Given the description of an element on the screen output the (x, y) to click on. 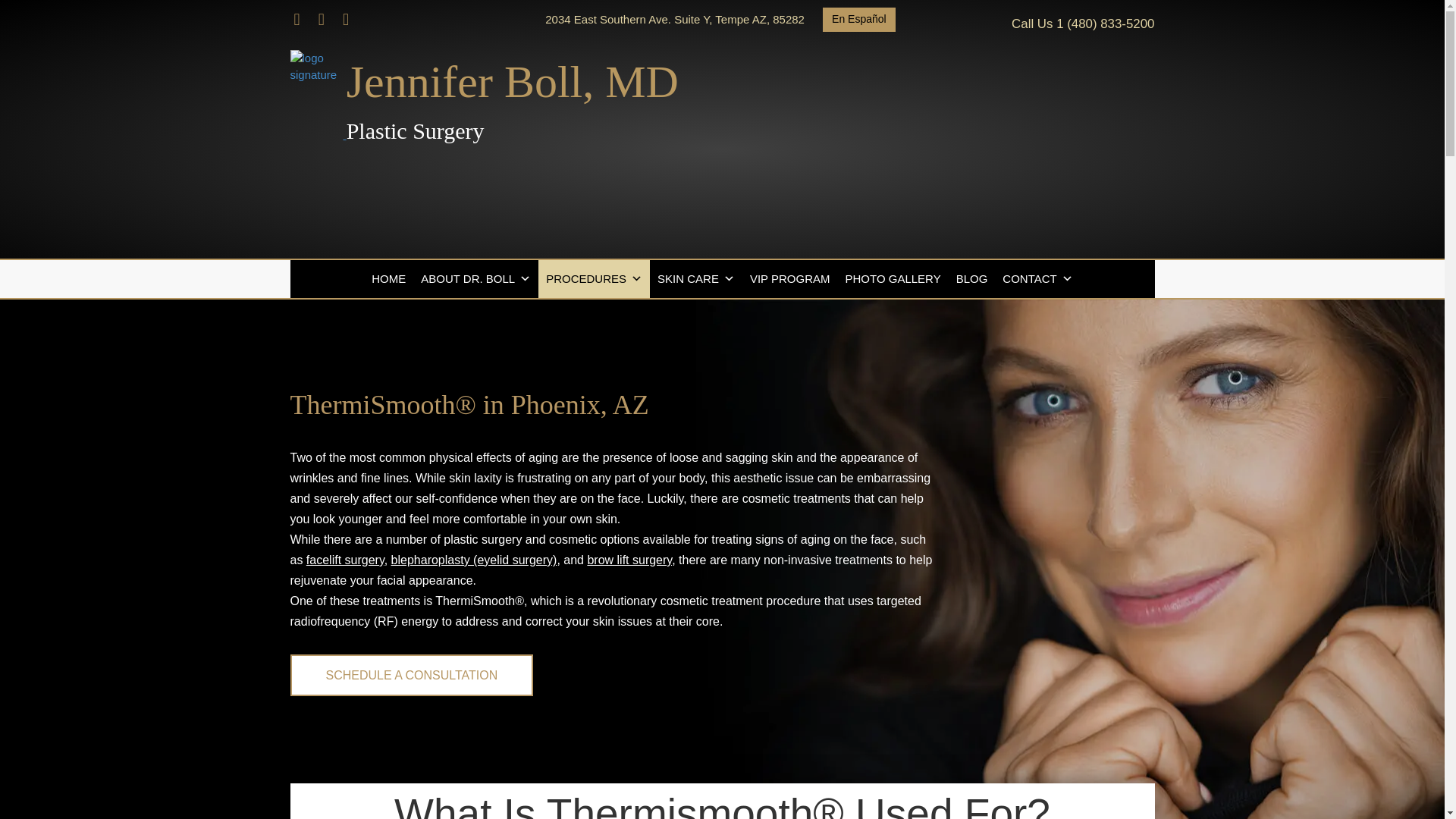
HOME (388, 279)
ABOUT DR. BOLL (475, 279)
PROCEDURES (593, 279)
